Given the description of an element on the screen output the (x, y) to click on. 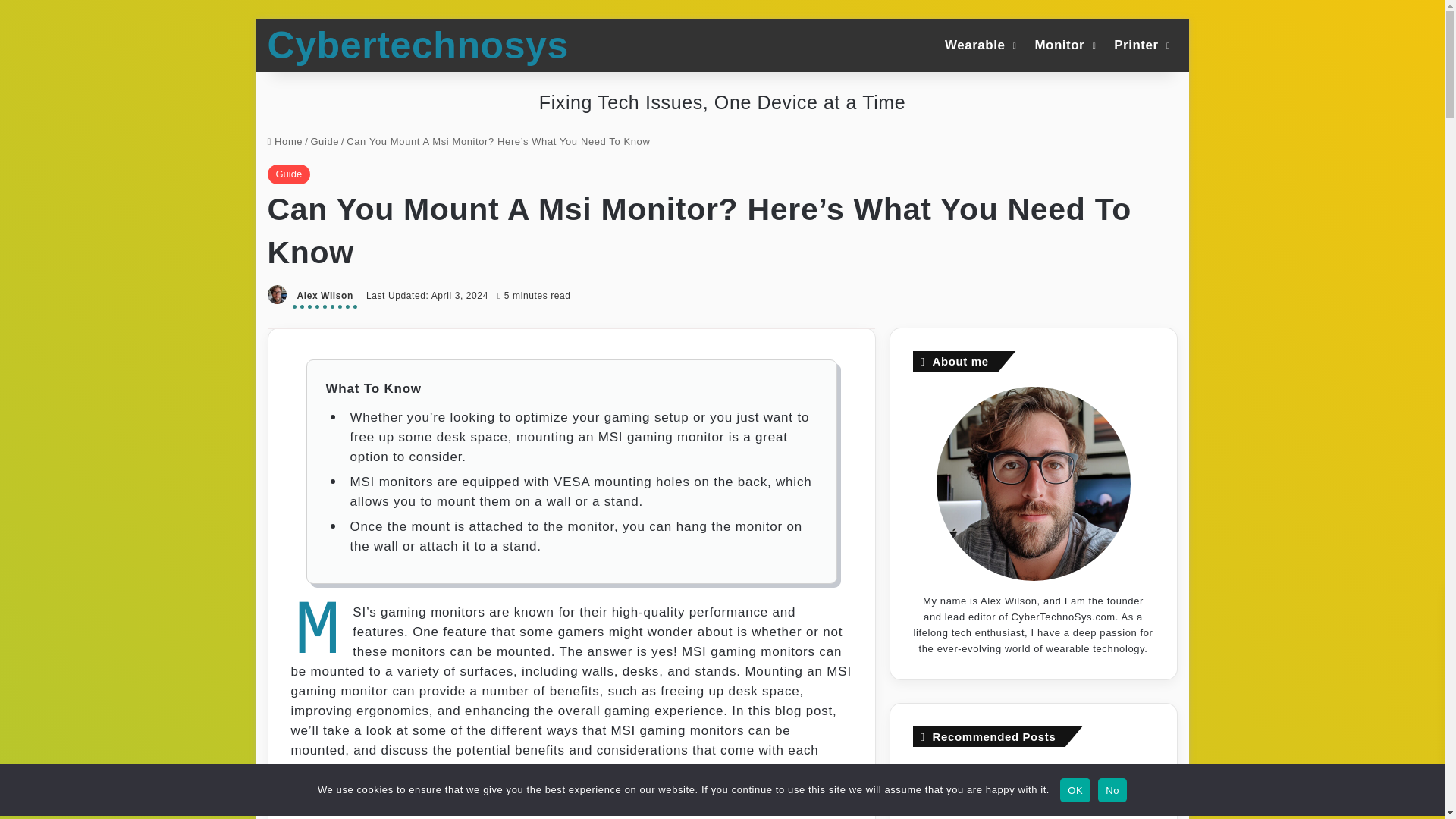
Home (284, 141)
Cybertechnosys (416, 45)
Wearable (978, 44)
Guide (324, 141)
Printer (1139, 44)
Monitor (1063, 44)
Cybertechnosys (416, 45)
Guide (288, 174)
Alex Wilson (324, 297)
Alex Wilson (324, 297)
